Given the description of an element on the screen output the (x, y) to click on. 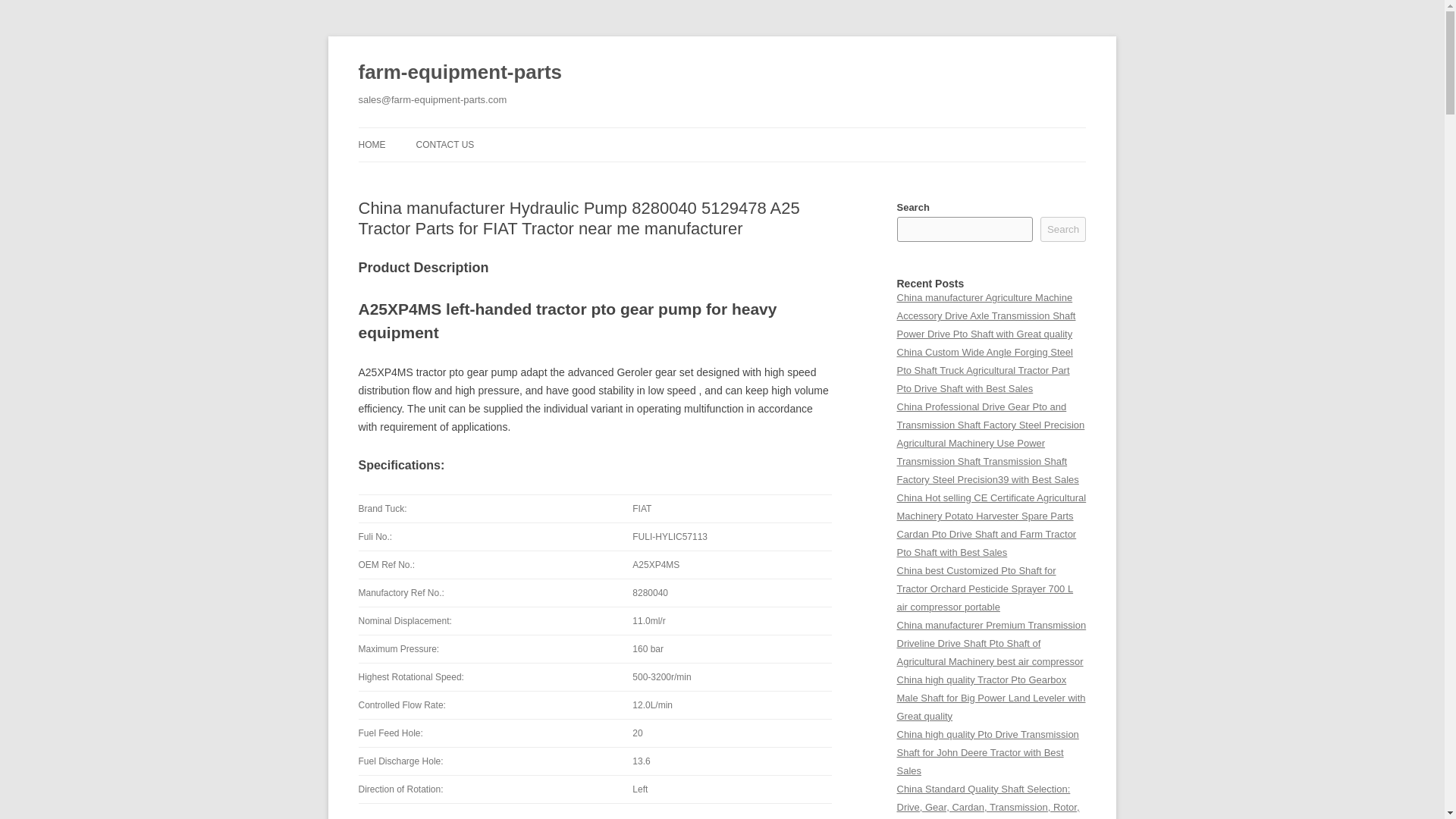
Search (1063, 229)
farm-equipment-parts (460, 72)
CONTACT US (444, 144)
farm-equipment-parts (460, 72)
